Given the description of an element on the screen output the (x, y) to click on. 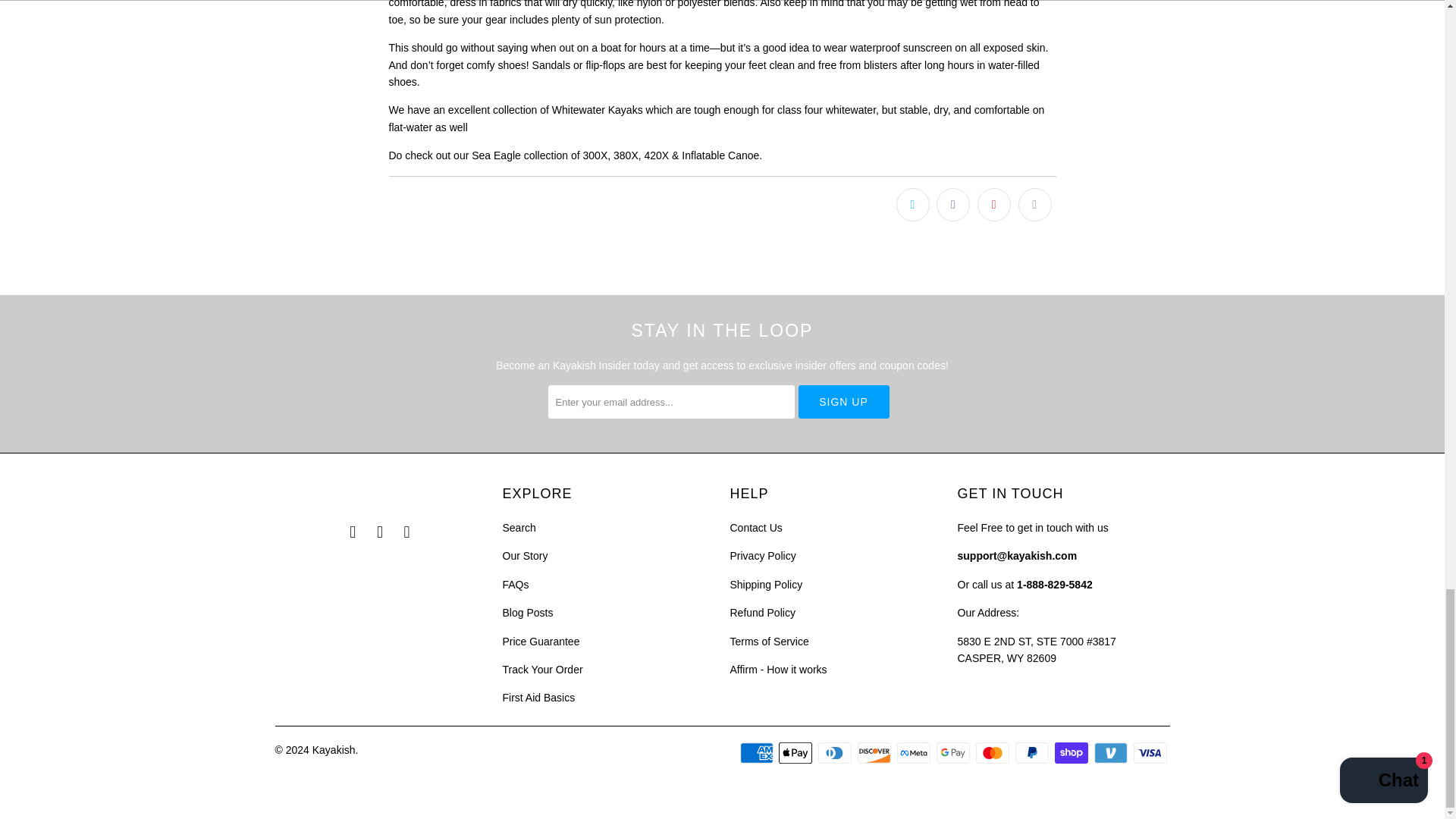
American Express (757, 753)
Discover (875, 753)
Sign Up (842, 401)
Kayakish on Facebook (353, 532)
Meta Pay (914, 753)
Venmo (1112, 753)
Google Pay (954, 753)
Email this to a friend (1034, 204)
Visa (1150, 753)
Diners Club (836, 753)
Mastercard (993, 753)
Share this on Facebook (952, 204)
Share this on Twitter (913, 204)
Shop Pay (1072, 753)
PayPal (1032, 753)
